Given the description of an element on the screen output the (x, y) to click on. 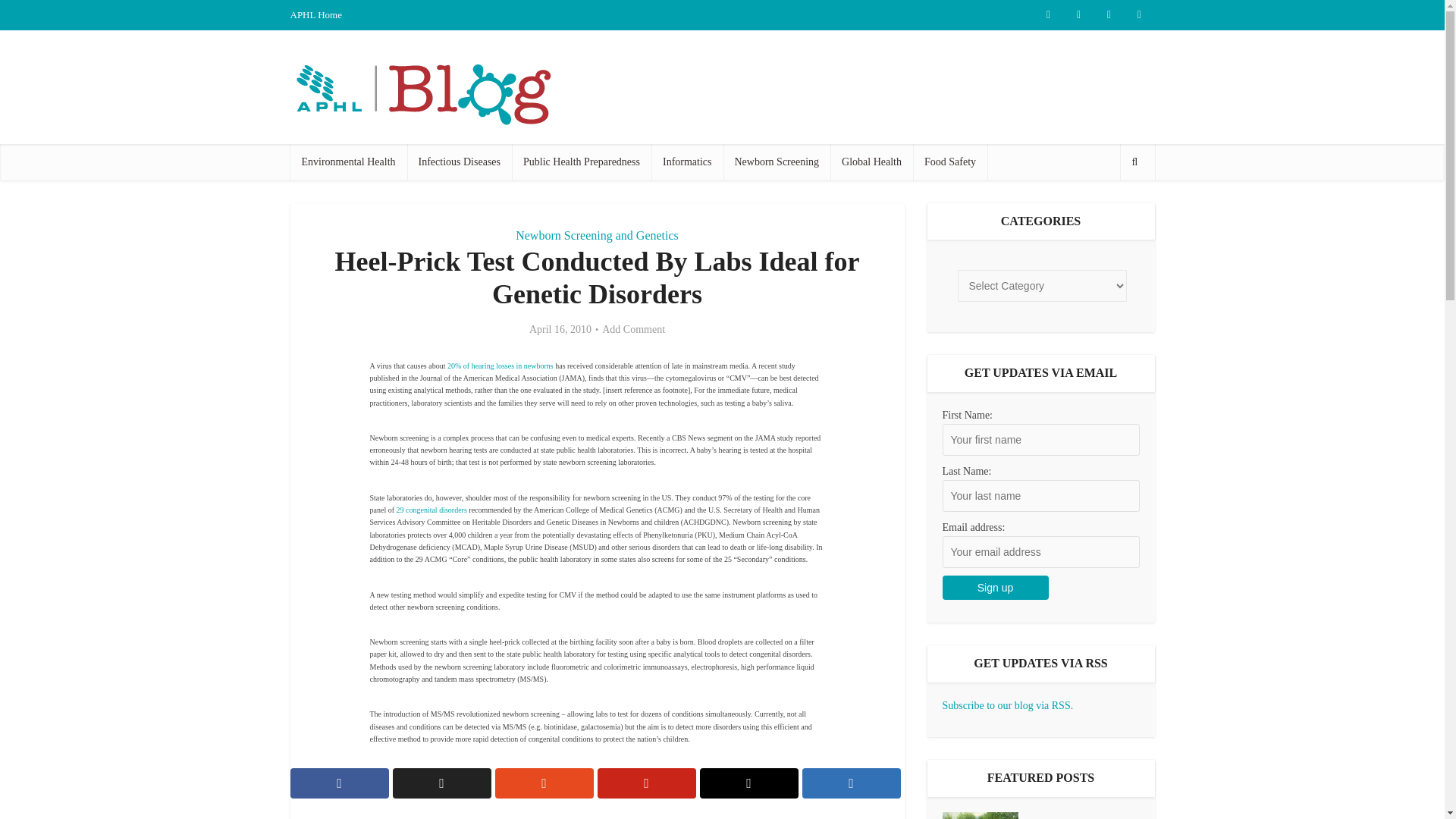
Environmental Health (347, 162)
Newborn Screening (777, 162)
Informatics (686, 162)
visit us on facebook (1077, 15)
Global Health (870, 162)
Newborn Screening and Genetics (596, 235)
read our latest tweets (1047, 15)
APHL Home (315, 14)
Public Health Preparedness (581, 162)
Food Safety (949, 162)
Infectious Diseases (459, 162)
29 congenital disorders (430, 510)
Add Comment (633, 329)
Sign up (995, 587)
check us out on instagram (1108, 15)
